Given the description of an element on the screen output the (x, y) to click on. 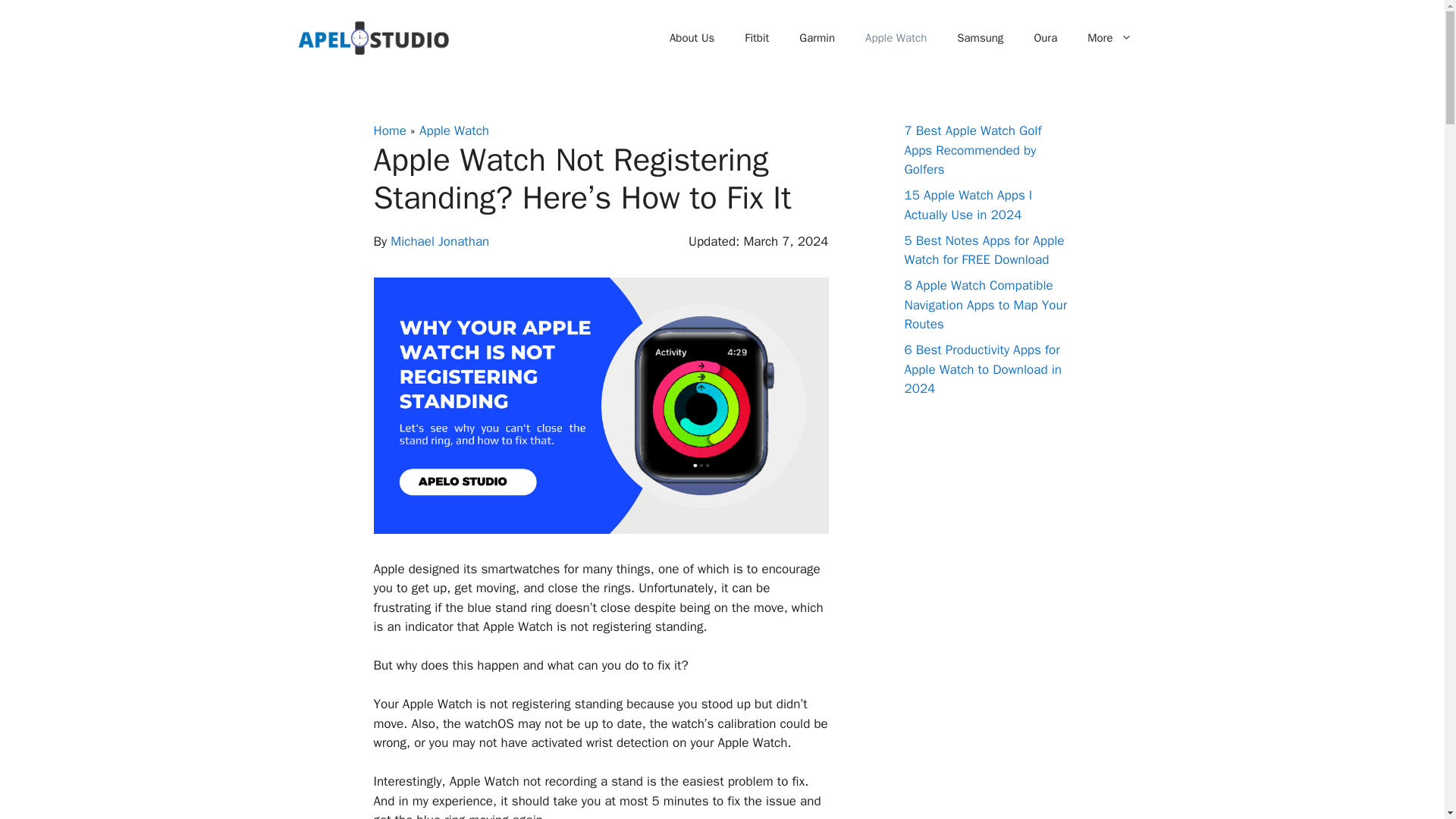
15 Apple Watch Apps I Actually Use in 2024 (968, 204)
About Us (691, 37)
More (1109, 37)
Michael Jonathan (439, 241)
Fitbit (756, 37)
6 Best Productivity Apps for Apple Watch to Download in 2024 (982, 369)
Apple Watch (454, 130)
Samsung (979, 37)
5 Best Notes Apps for Apple Watch for FREE Download (984, 249)
Apple Watch (896, 37)
Garmin (817, 37)
7 Best Apple Watch Golf Apps Recommended by Golfers (972, 149)
Home (389, 130)
Oura (1044, 37)
8 Apple Watch Compatible Navigation Apps to Map Your Routes (985, 304)
